Given the description of an element on the screen output the (x, y) to click on. 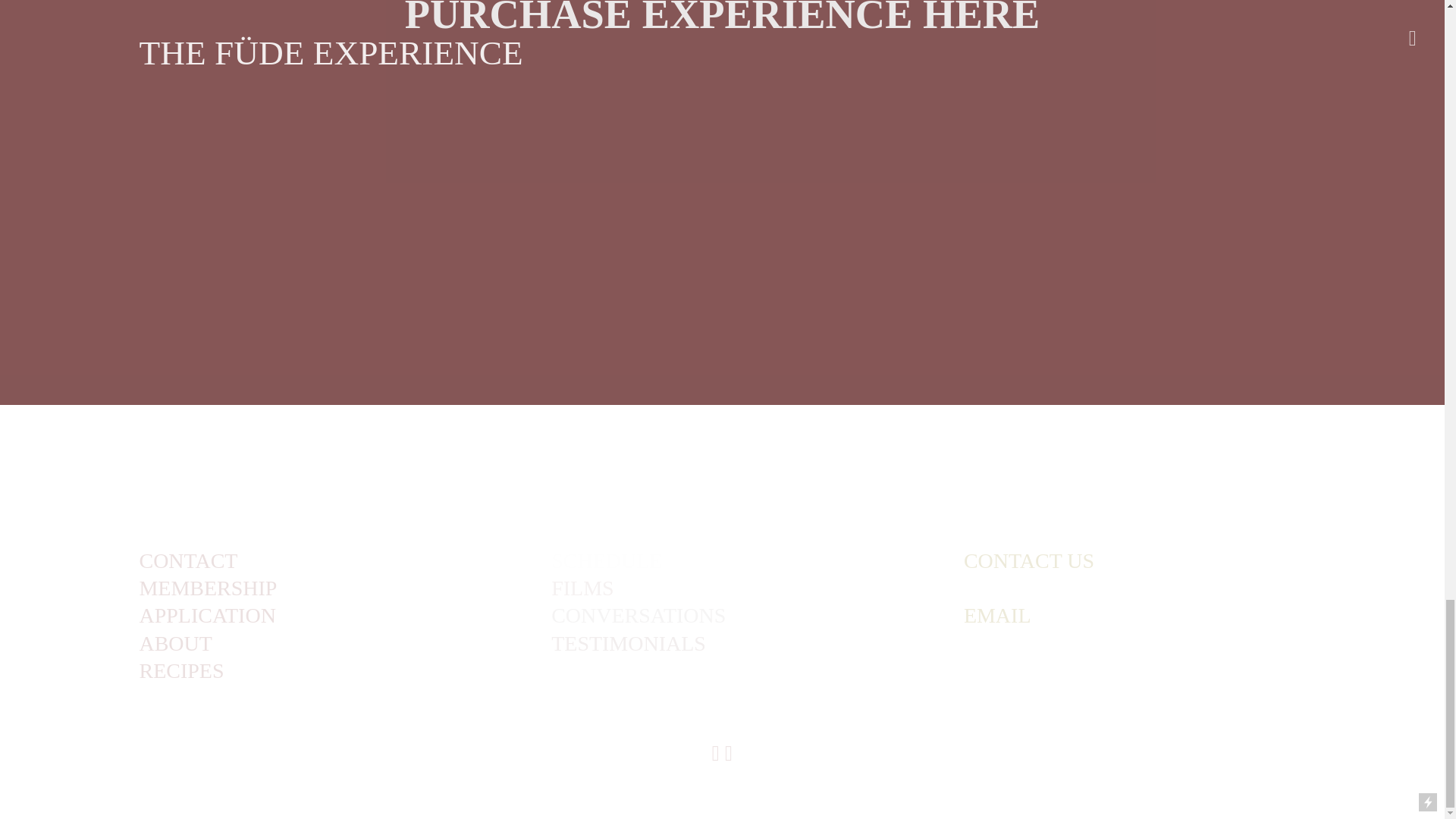
EMAIL (996, 616)
CONTACT US (1028, 561)
CONVERSATIONS (638, 616)
RECIPES (181, 671)
CONTACT (187, 561)
APPLICATION (206, 616)
ABOUT (722, 15)
SCHEDULE (174, 644)
FILMS (606, 561)
